Given the description of an element on the screen output the (x, y) to click on. 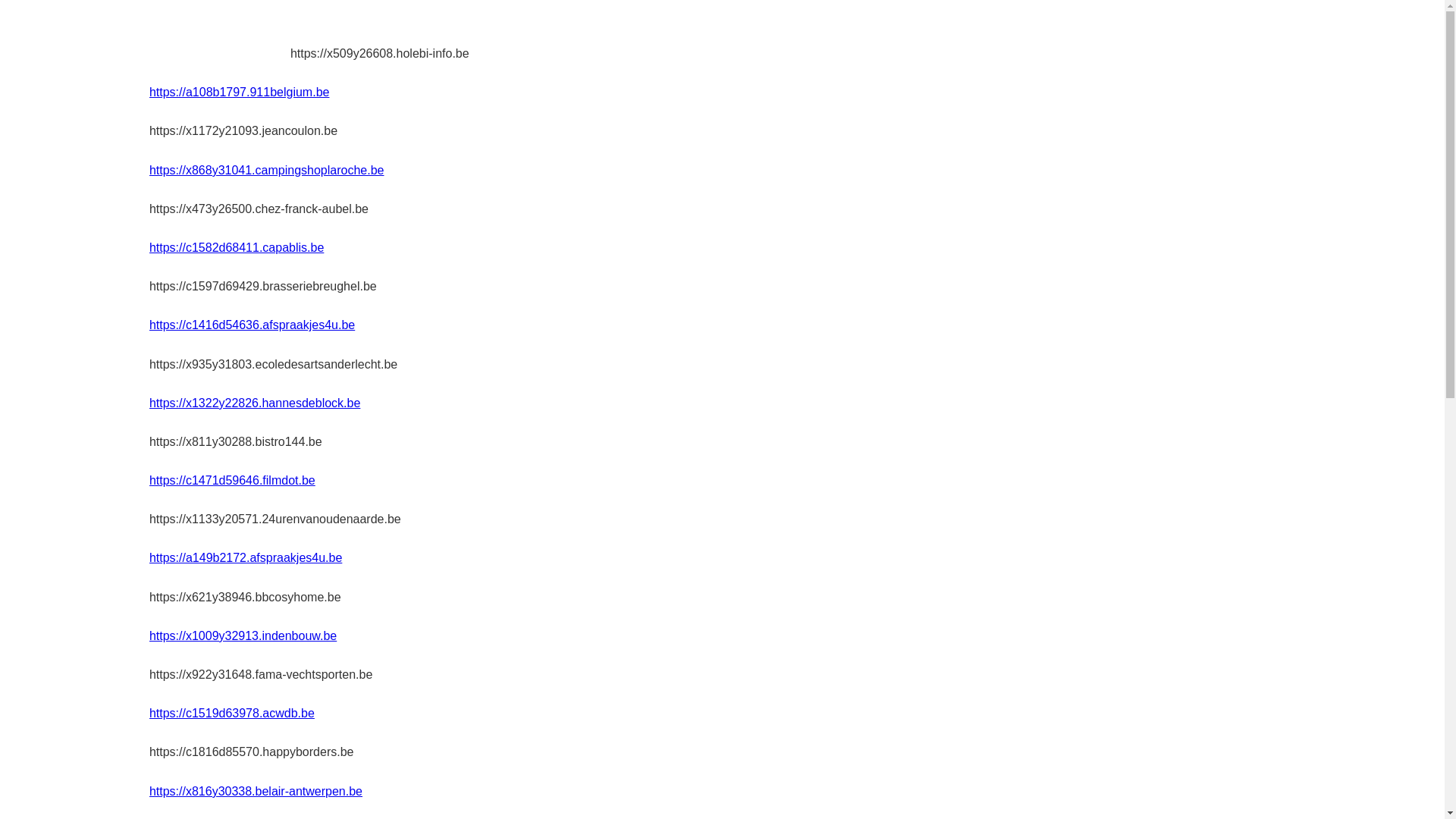
https://a149b2172.afspraakjes4u.be Element type: text (245, 557)
https://x1009y32913.indenbouw.be Element type: text (242, 635)
https://c1582d68411.capablis.be Element type: text (236, 247)
brasseriebreughel.be Element type: text (219, 34)
https://c1519d63978.acwdb.be Element type: text (231, 712)
https://c1416d54636.afspraakjes4u.be Element type: text (251, 324)
https://c1471d59646.filmdot.be Element type: text (232, 479)
https://x816y30338.belair-antwerpen.be Element type: text (255, 790)
https://a108b1797.911belgium.be Element type: text (239, 91)
https://x868y31041.campingshoplaroche.be Element type: text (266, 169)
https://x1322y22826.hannesdeblock.be Element type: text (254, 402)
